Given the description of an element on the screen output the (x, y) to click on. 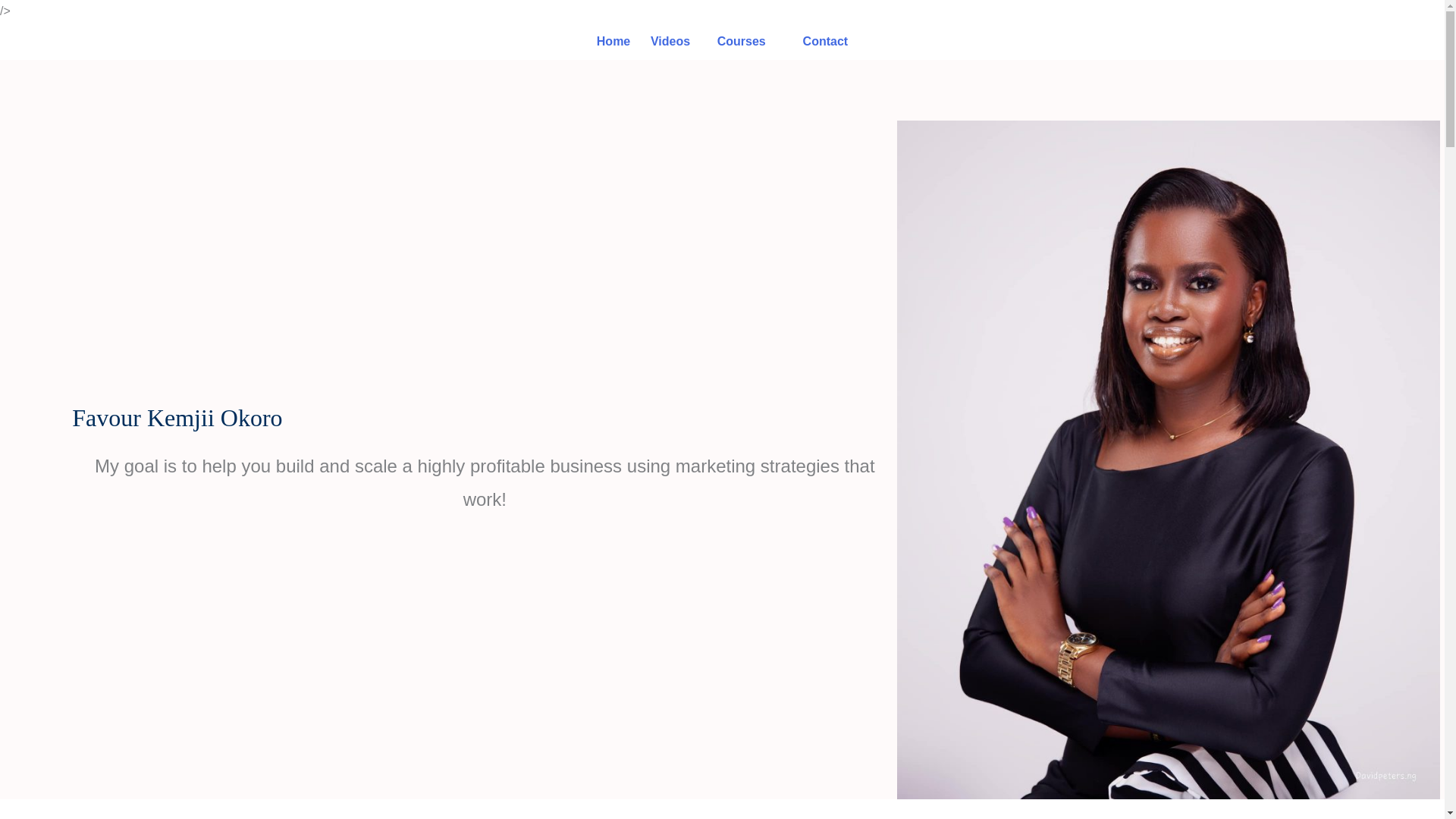
Home (613, 41)
Videos (670, 41)
Contact (825, 41)
Courses (741, 41)
